Given the description of an element on the screen output the (x, y) to click on. 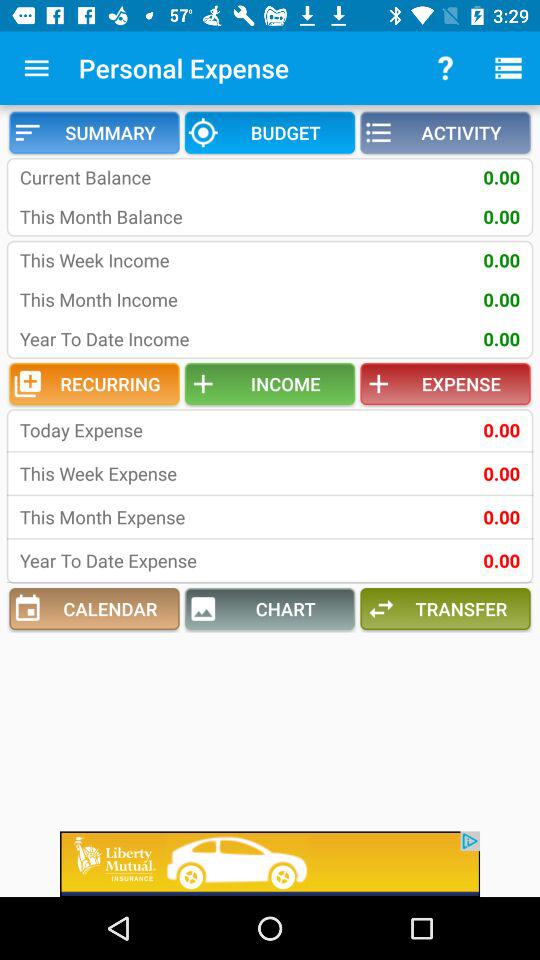
tap the icon below the recurring icon (149, 429)
